Given the description of an element on the screen output the (x, y) to click on. 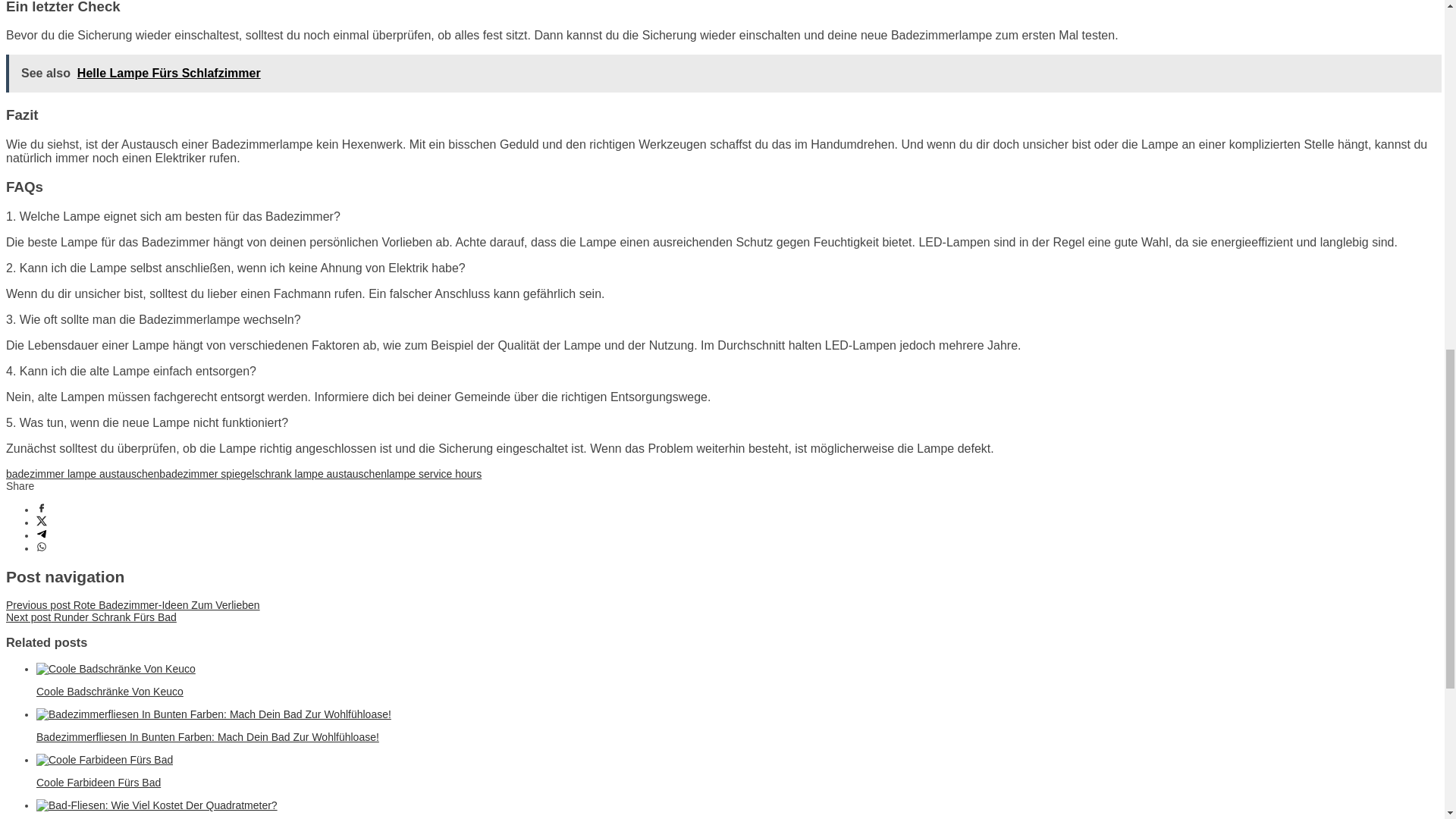
badezimmer spiegelschrank lampe austauschen (272, 473)
Share this (41, 509)
lampe service hours (434, 473)
badezimmer lampe austauschen (81, 473)
Previous post Rote Badezimmer-Ideen Zum Verlieben (132, 604)
